Given the description of an element on the screen output the (x, y) to click on. 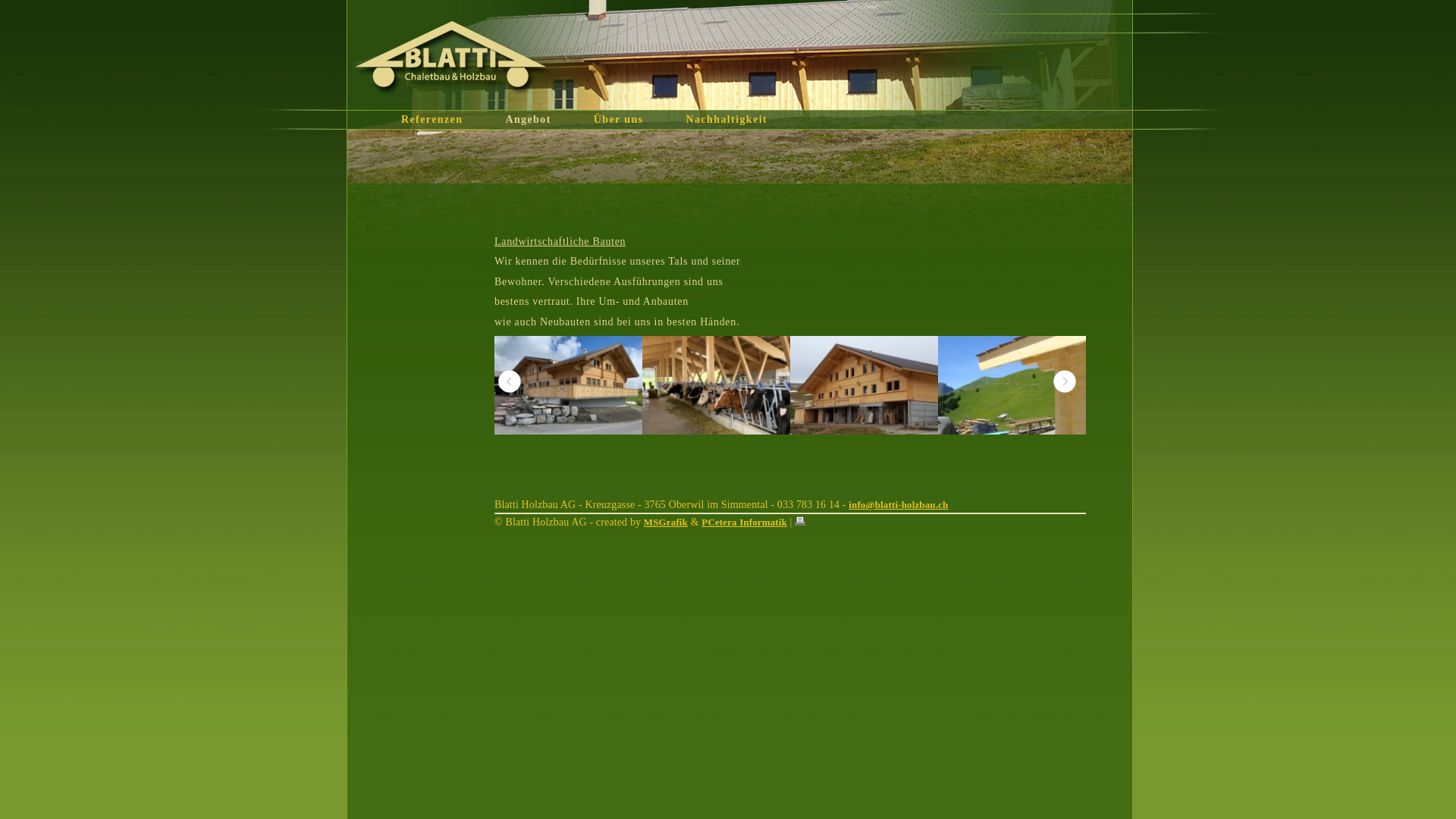
PCetera Informatik Element type: text (744, 521)
Angebot Element type: text (539, 119)
<b>Seeberg 3</b><br> Element type: hover (716, 430)
<b>Seeberg 3</b><br> Element type: hover (716, 384)
Diese Seite ausdrucken Element type: hover (801, 521)
<b>Seeberg 1</b><br> Element type: hover (568, 384)
Referenzen Element type: text (443, 119)
<b>Seeberg 1</b><br> Element type: hover (568, 430)
info@blatti-holzbau.ch Element type: text (897, 504)
MSGrafik Element type: text (665, 521)
Nachhaltigkeit Element type: text (739, 119)
